Given the description of an element on the screen output the (x, y) to click on. 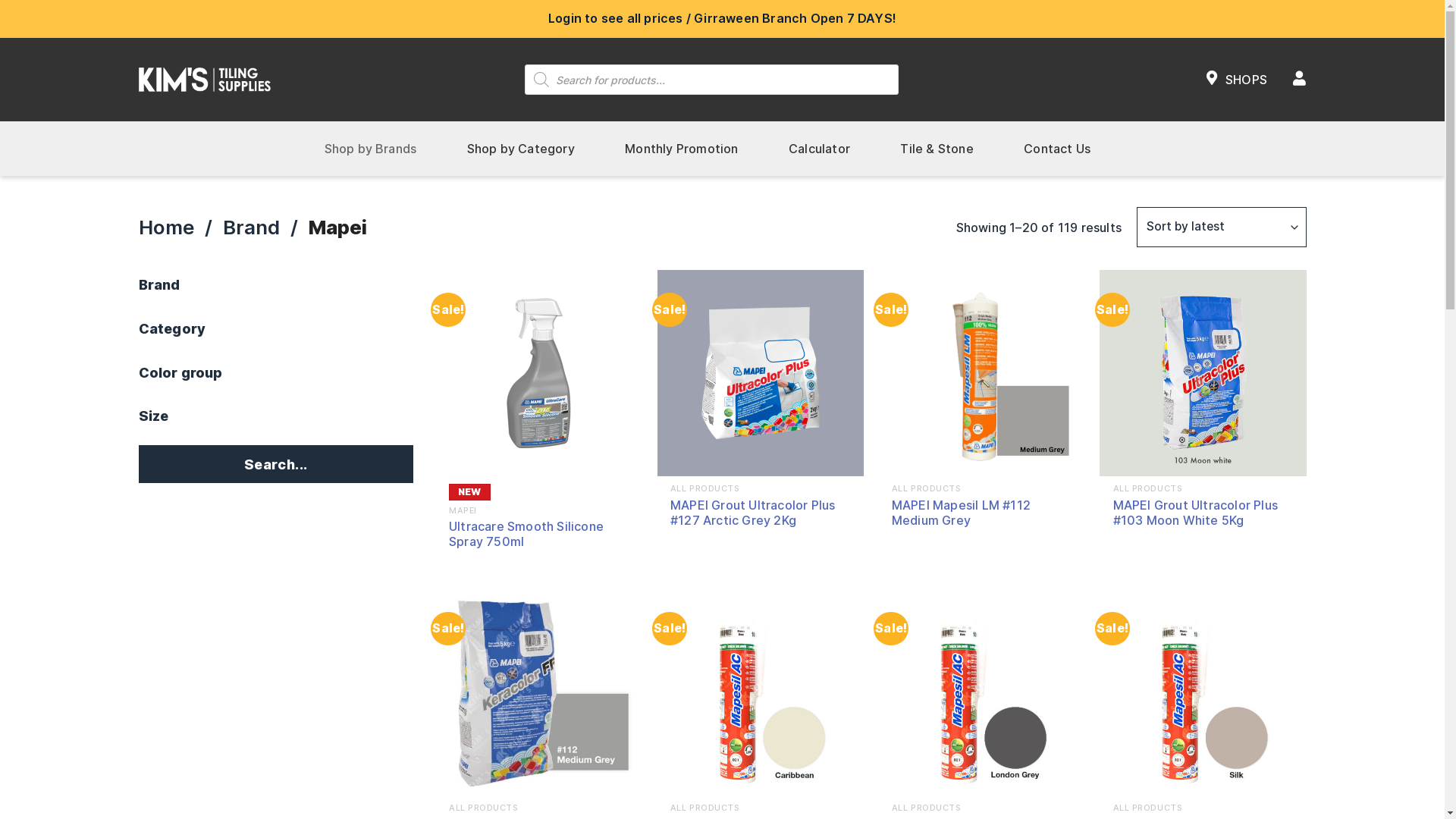
Size Element type: text (275, 423)
Monthly Promotion Element type: text (680, 148)
Tile & Stone Element type: text (936, 148)
Shop by Category Element type: text (520, 148)
MAPEI Grout Ultracolor Plus #103 Moon White 5Kg Element type: text (1203, 513)
Color group Element type: text (275, 379)
Home Element type: text (166, 226)
SHOPS Element type: text (1236, 79)
Kims Tiling Supplies - The best one stop tile shop in Sydney Element type: hover (203, 79)
MAPEI Mapesil LM #112 Medium Grey Element type: text (981, 513)
Brand Element type: text (250, 226)
Brand Element type: text (275, 291)
Ultracare Smooth Silicone Spray 750ml Element type: text (538, 534)
Category Element type: text (275, 335)
Shop by Brands Element type: text (369, 148)
acc Element type: text (1298, 79)
Search... Element type: text (275, 464)
MAPEI Grout Ultracolor Plus #127 Arctic Grey 2Kg Element type: text (760, 513)
Calculator Element type: text (819, 148)
Contact Us Element type: text (1056, 148)
